Given the description of an element on the screen output the (x, y) to click on. 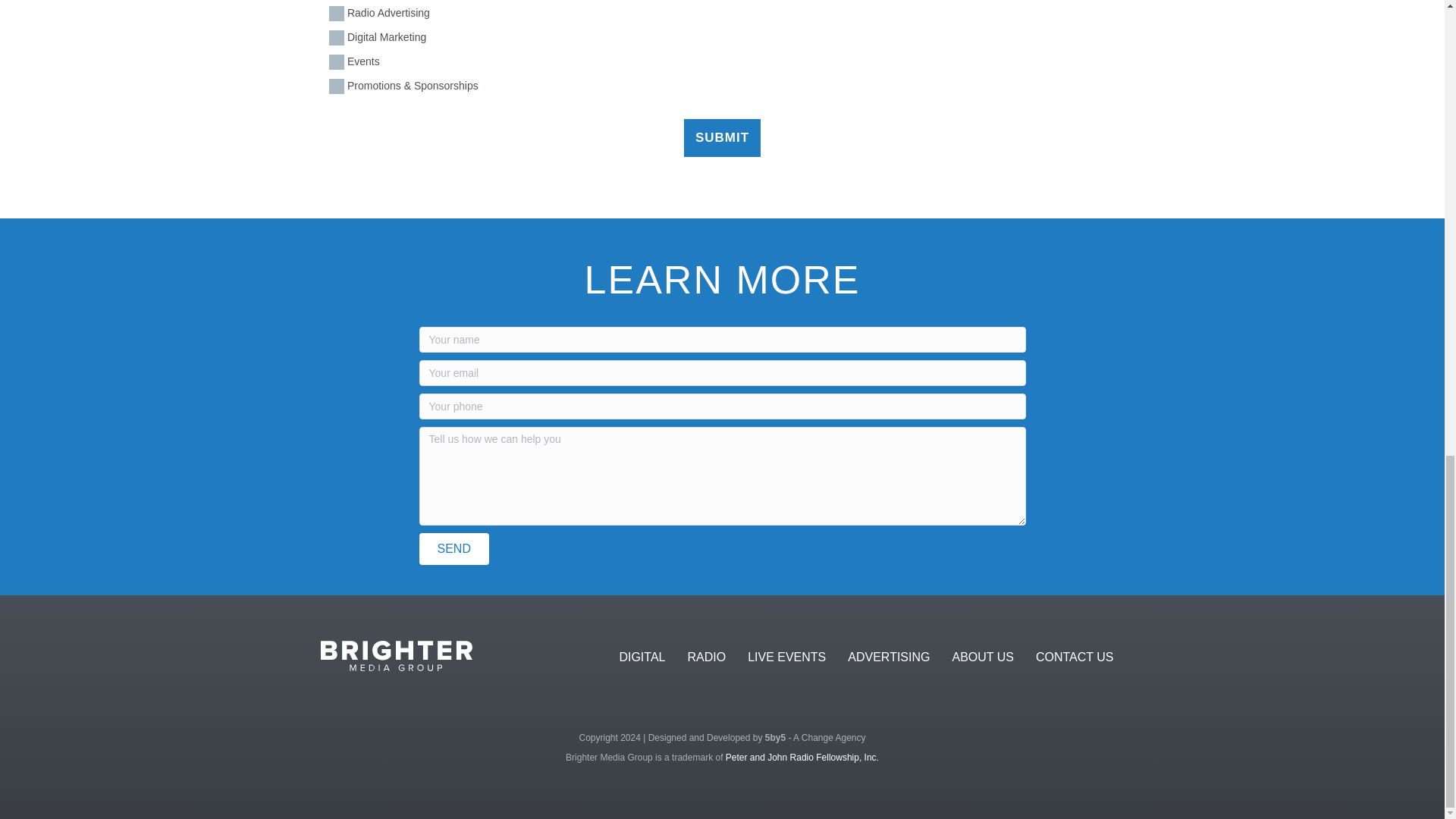
Radio Advertising (336, 13)
DIGITAL (641, 657)
Digital Marketing (336, 37)
RADIO (706, 657)
Submit (722, 137)
SEND (453, 549)
Events (336, 61)
Submit (722, 137)
bmg-logo-white (395, 655)
